Given the description of an element on the screen output the (x, y) to click on. 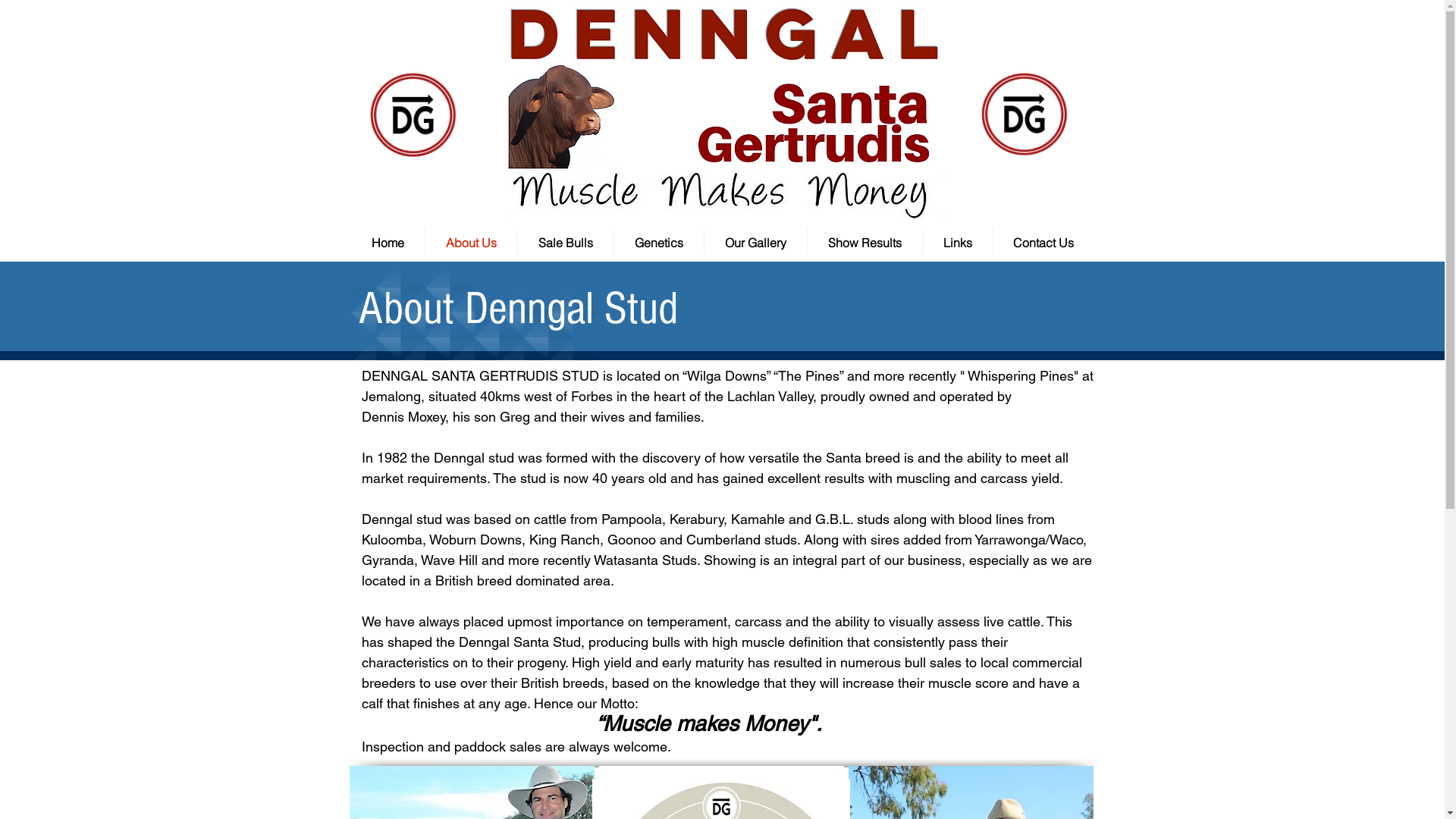
Genetics Element type: text (658, 242)
Links Element type: text (956, 242)
Home Element type: text (386, 242)
About Us Element type: text (470, 242)
Contact Us Element type: text (1043, 242)
Show Results Element type: text (863, 242)
Sale Bulls Element type: text (564, 242)
Our Gallery Element type: text (754, 242)
